Given the description of an element on the screen output the (x, y) to click on. 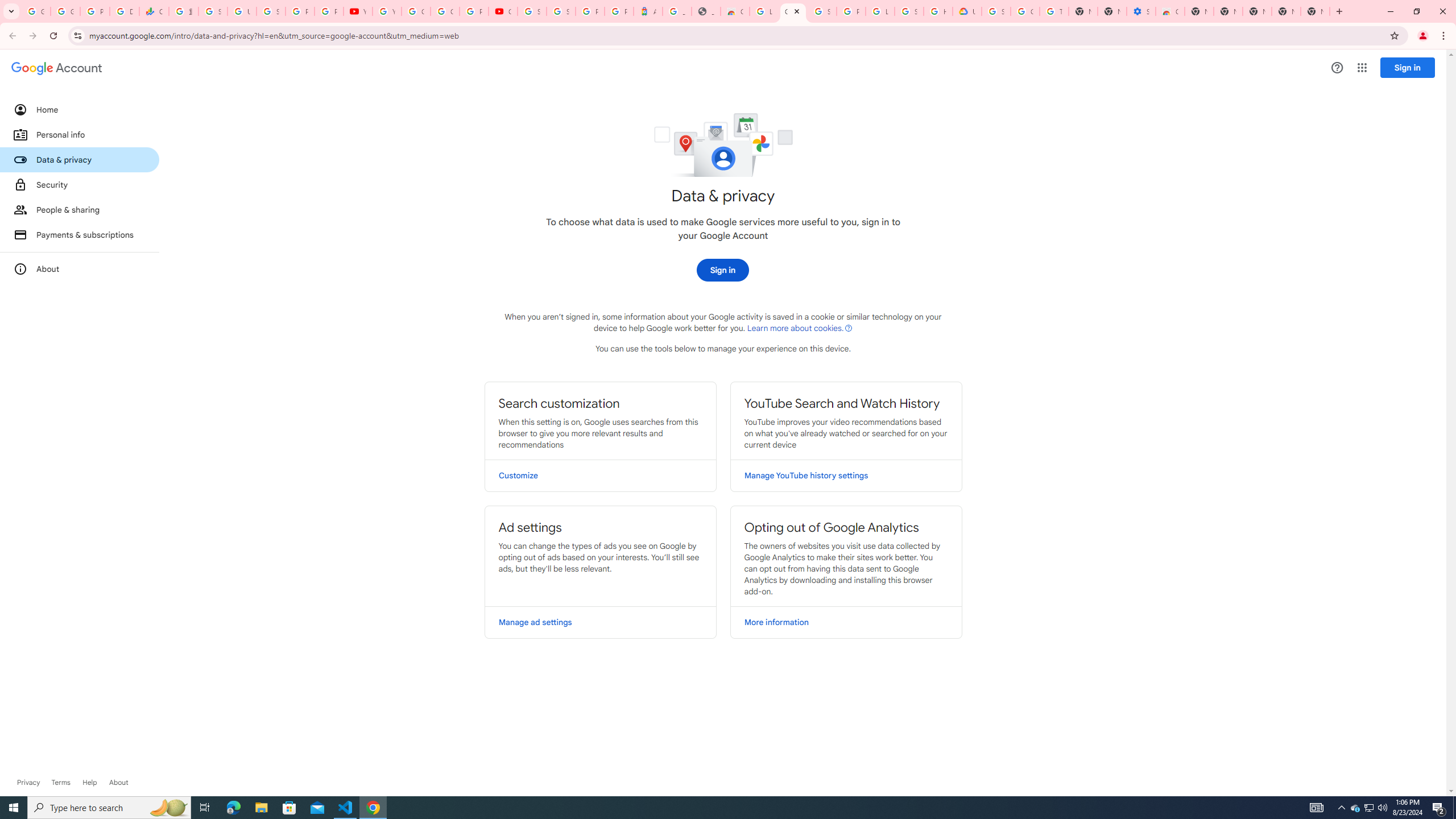
Manage ad settings (600, 622)
Content Creator Programs & Opportunities - YouTube Creators (502, 11)
YouTube (357, 11)
Currencies - Google Finance (153, 11)
New Tab (1315, 11)
Google Account Help (1025, 11)
Google Account settings (56, 68)
